Given the description of an element on the screen output the (x, y) to click on. 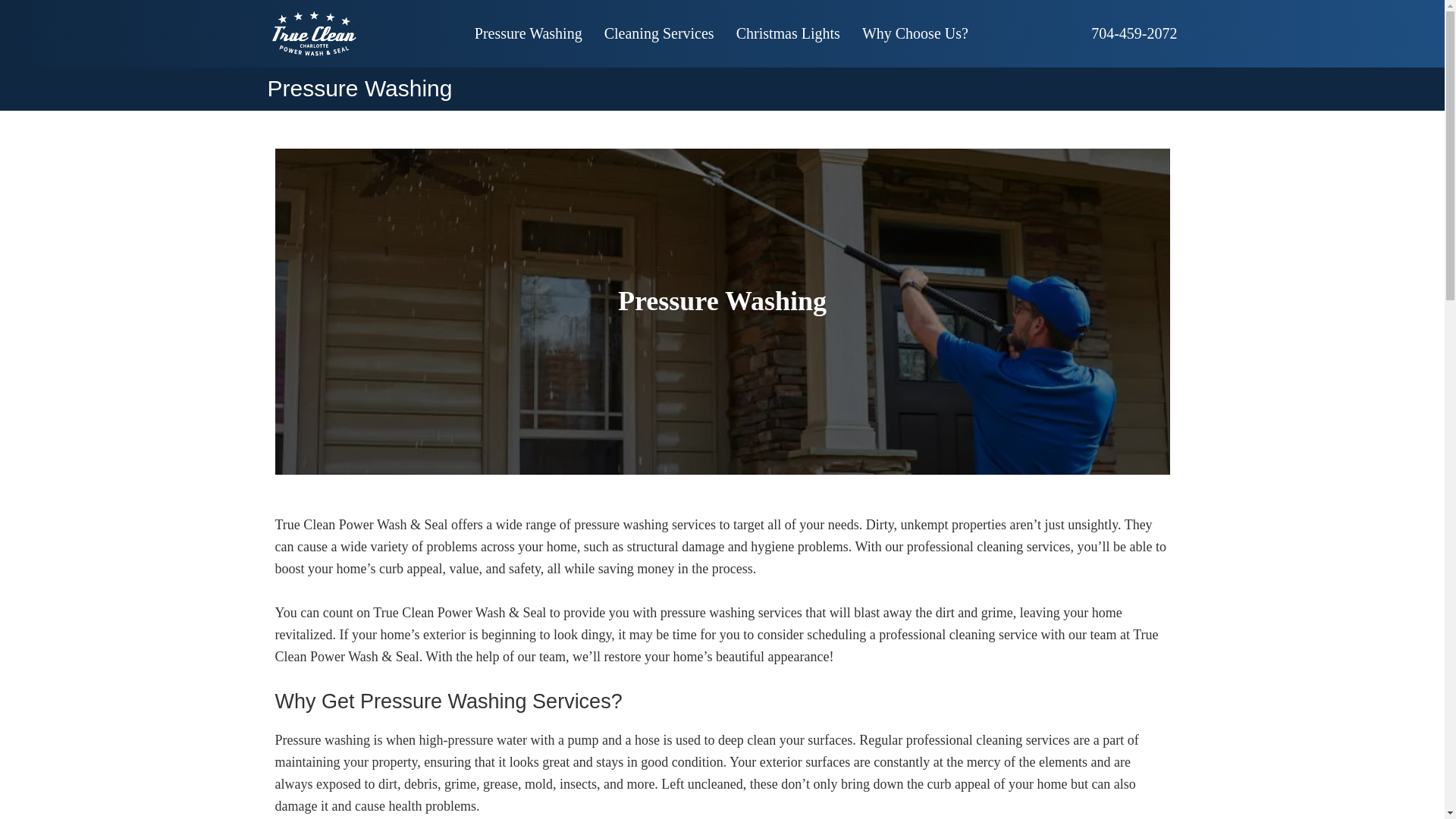
Pressure Washing (528, 33)
Cleaning Services (659, 33)
Christmas Lights (787, 33)
704-459-2072 (1133, 33)
Why Choose Us? (914, 33)
